Given the description of an element on the screen output the (x, y) to click on. 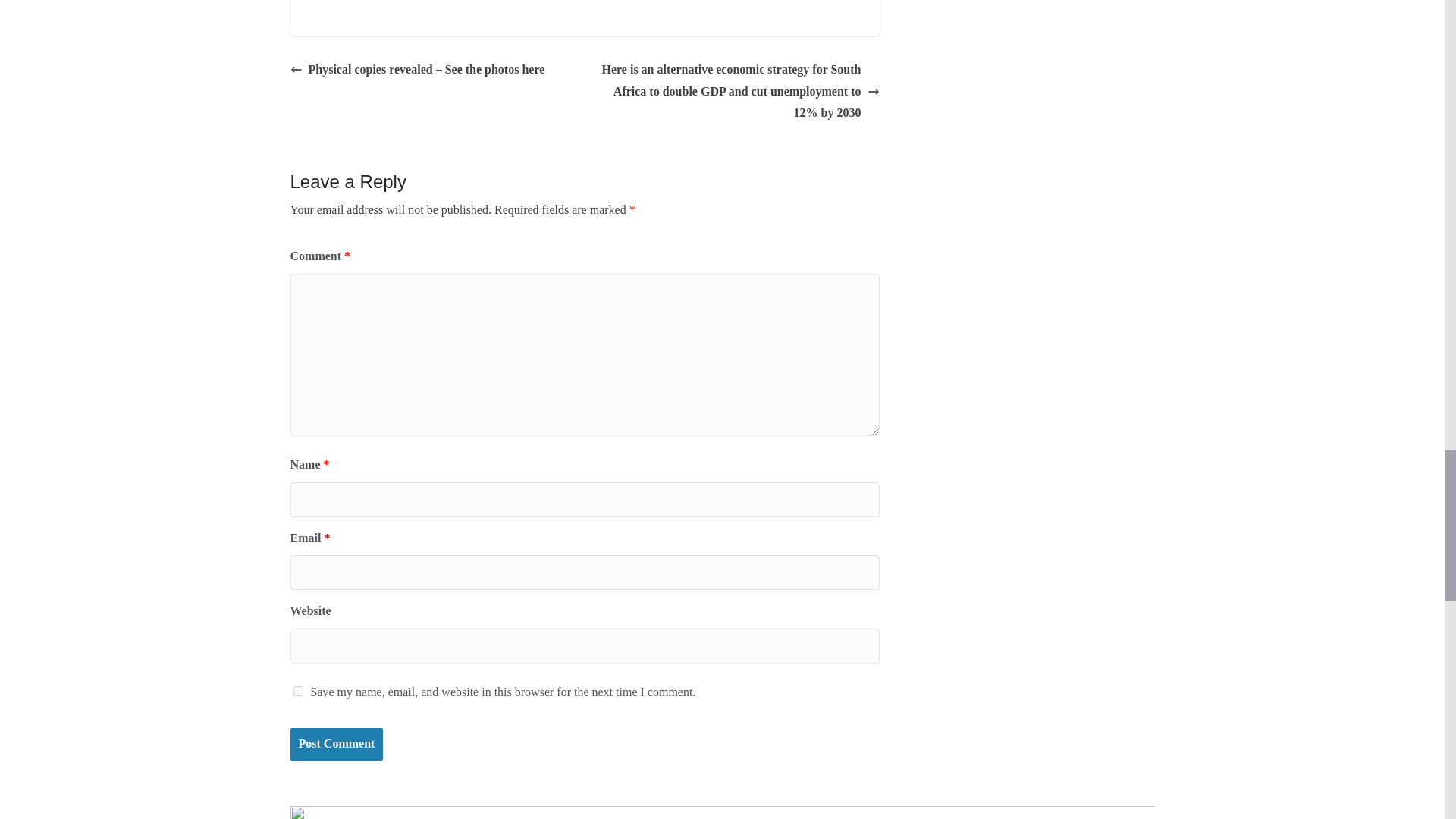
yes (297, 691)
Post Comment (335, 744)
Post Comment (335, 744)
